Given the description of an element on the screen output the (x, y) to click on. 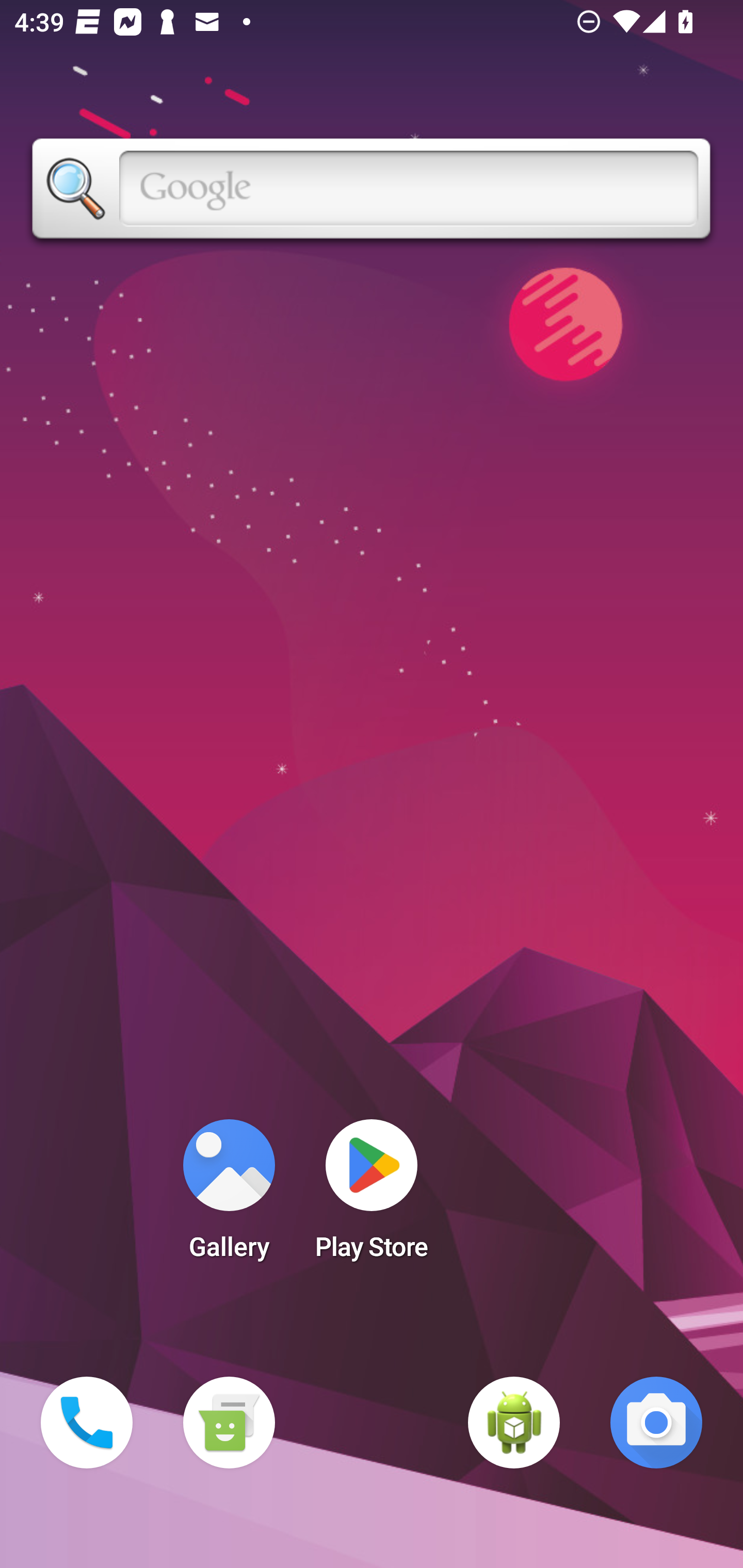
Gallery (228, 1195)
Play Store (371, 1195)
Phone (86, 1422)
Messaging (228, 1422)
WebView Browser Tester (513, 1422)
Camera (656, 1422)
